Given the description of an element on the screen output the (x, y) to click on. 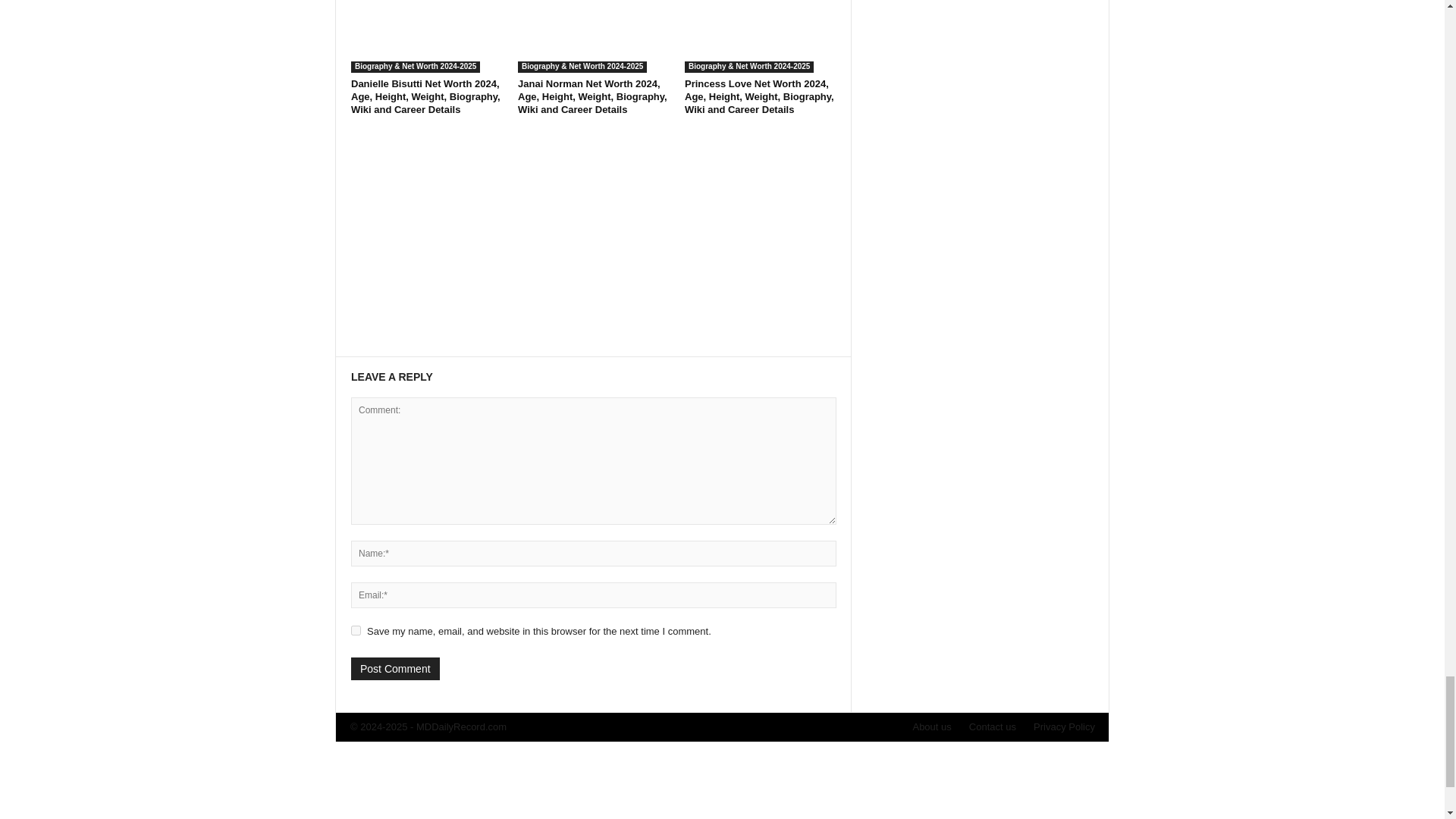
yes (355, 630)
Post Comment (394, 668)
